Given the description of an element on the screen output the (x, y) to click on. 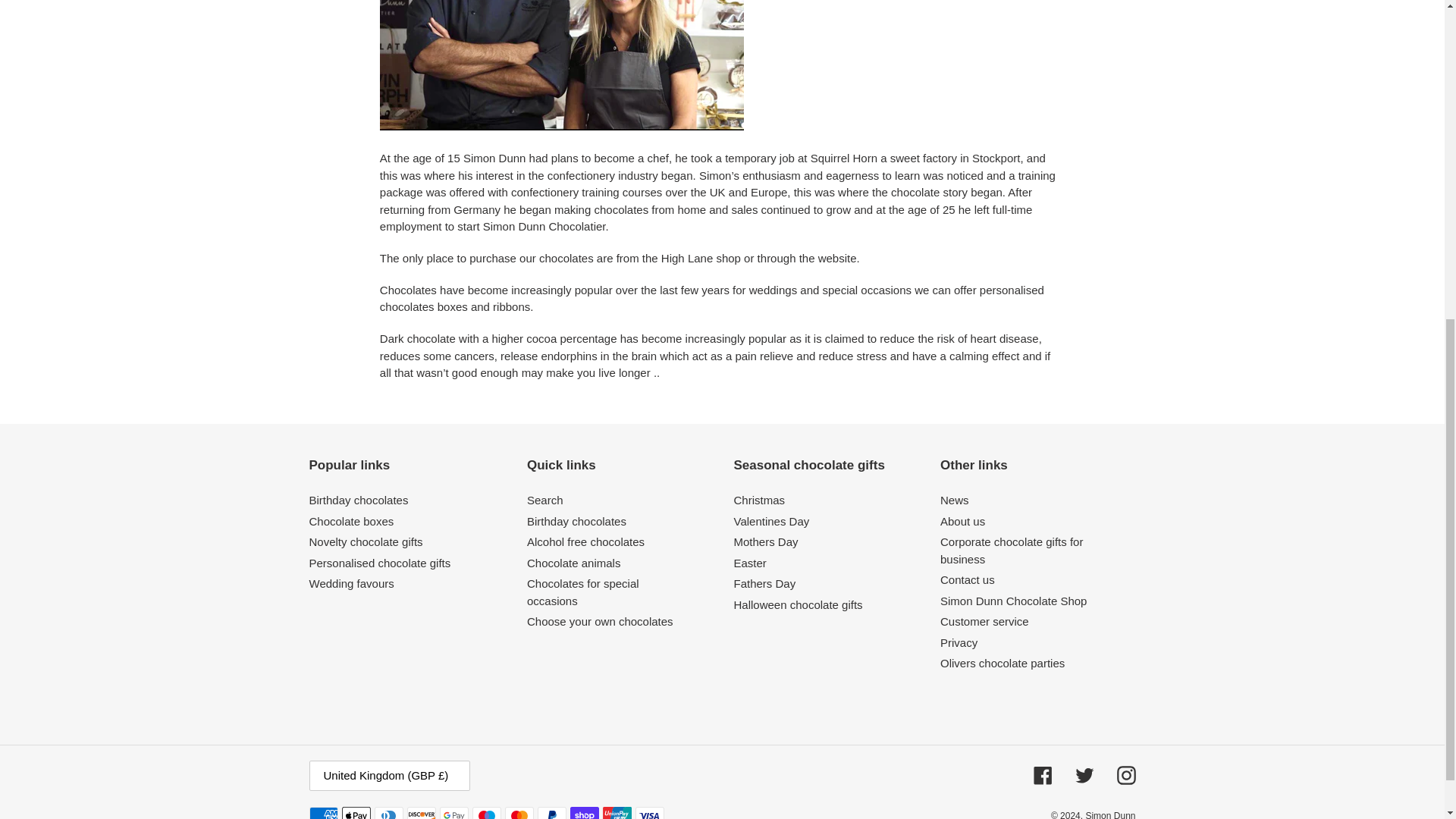
Alcohol free chocolates (586, 541)
Novelty chocolate gifts (365, 541)
Personalised chocolate gifts (379, 562)
Birthday chocolates (576, 521)
Birthday chocolates (358, 499)
Chocolate boxes (351, 521)
Chocolate animals (573, 562)
Wedding favours (351, 583)
Search (545, 499)
